Given the description of an element on the screen output the (x, y) to click on. 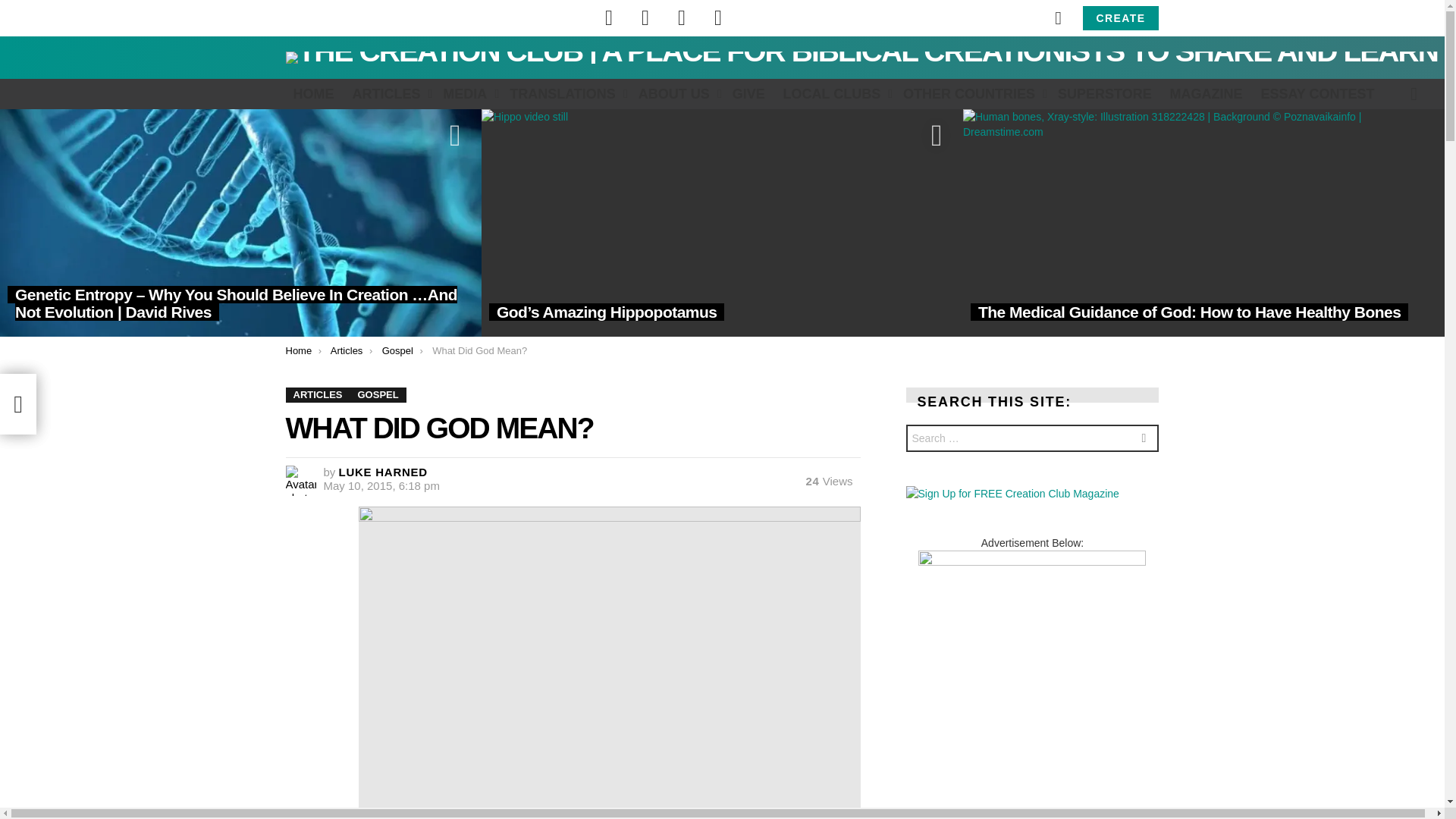
The Medical Guidance of God: How to Have Healthy Bones (1203, 222)
CREATE (1120, 17)
HOME (312, 93)
ARTICLES (387, 93)
instagram (681, 18)
facebook (609, 18)
LOCAL CLUBS (834, 93)
twitter (645, 18)
youtube (718, 18)
TRANSLATIONS (564, 93)
